Given the description of an element on the screen output the (x, y) to click on. 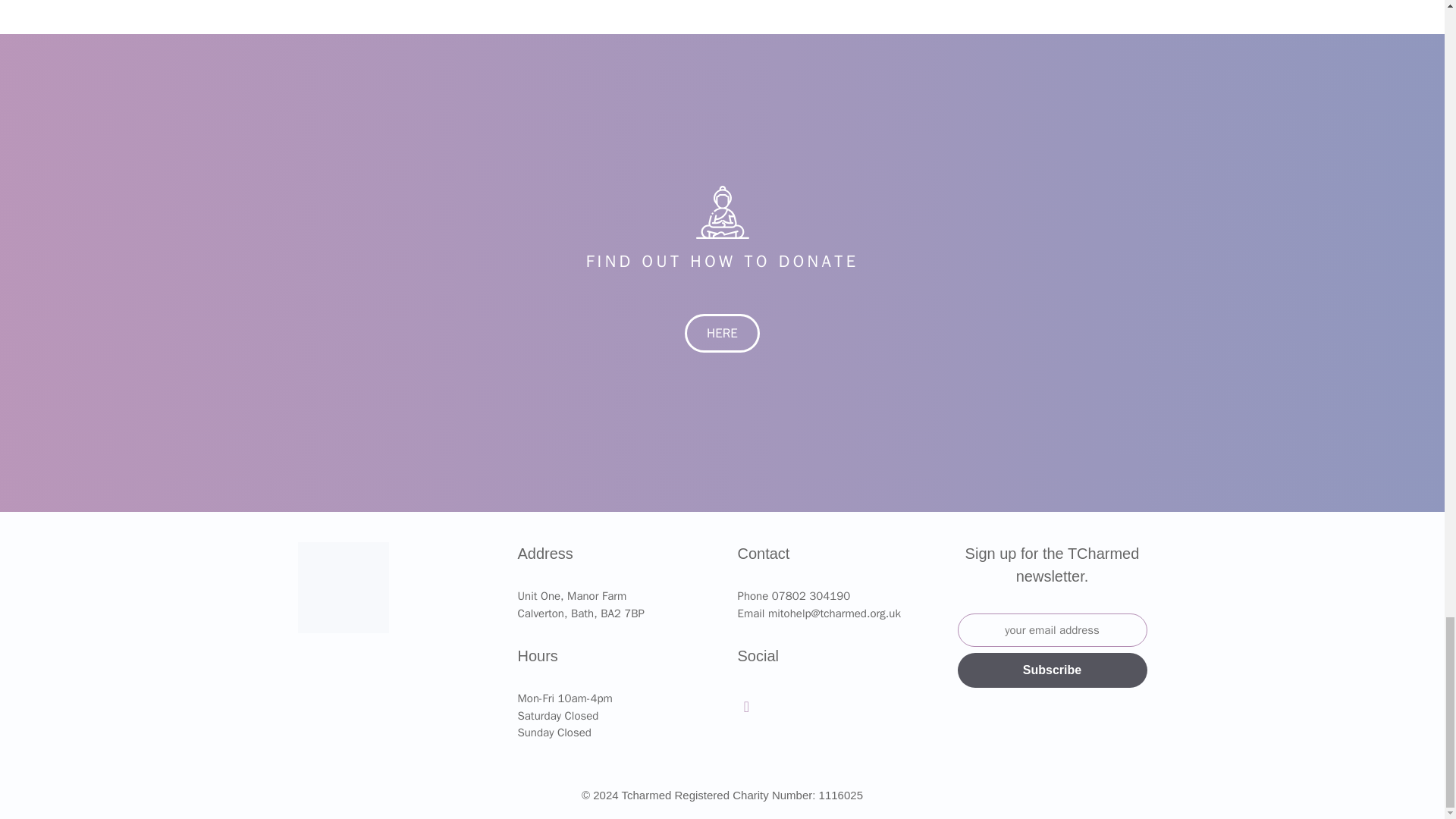
HERE (722, 332)
Subscribe (1051, 669)
Subscribe (1051, 669)
Facebook (745, 706)
